Given the description of an element on the screen output the (x, y) to click on. 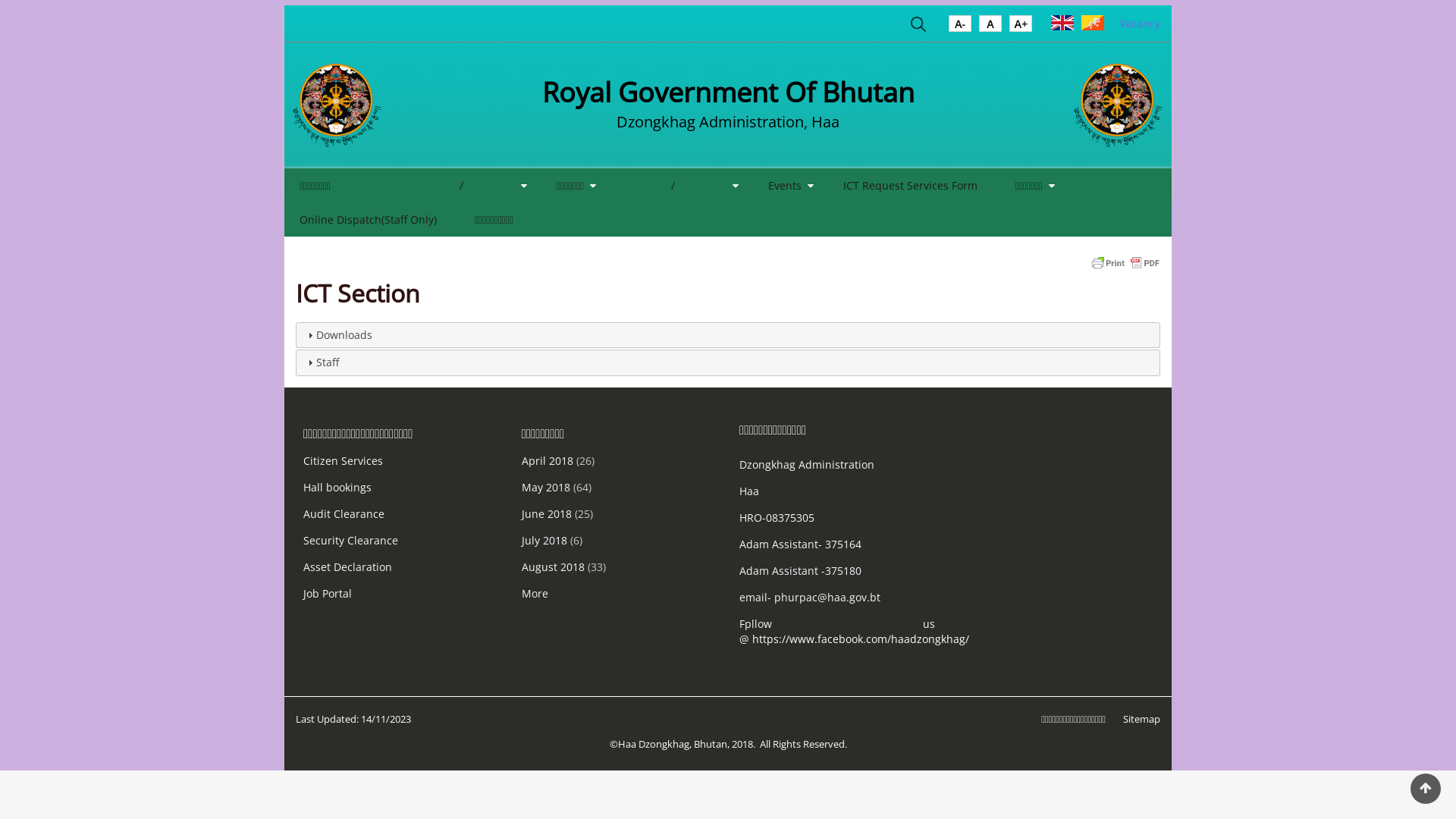
Vacancy Element type: text (1139, 22)
April 2018 Element type: text (547, 460)
Home Element type: hover (1118, 105)
Citizen Services Element type: text (342, 460)
ICT Request Services Form Element type: text (910, 185)
Security Clearance Element type: text (350, 540)
Royal Government Of Bhutan Element type: text (727, 91)
A Element type: text (959, 26)
Printer Friendly, PDF & Email Element type: hover (1125, 261)
May 2018 Element type: text (545, 487)
August 2018 Element type: text (552, 566)
Staff Element type: text (327, 361)
Job Portal Element type: text (327, 593)
Downloads Element type: text (344, 334)
https://www.facebook.com/haadzongkhag/ Element type: text (860, 638)
Events Element type: text (786, 185)
Back to Top Element type: hover (1425, 788)
Audit Clearance Element type: text (343, 513)
Online Dispatch(Staff Only) Element type: text (367, 219)
Skip to main content Element type: text (0, 0)
Sitemap Element type: text (1141, 718)
Hall bookings Element type: text (337, 487)
Search Element type: text (917, 26)
Home Element type: hover (336, 105)
A Element type: text (1020, 26)
A Element type: text (990, 26)
July 2018 Element type: text (544, 540)
June 2018 Element type: text (546, 513)
Asset Declaration Element type: text (347, 566)
More Element type: text (534, 593)
